Given the description of an element on the screen output the (x, y) to click on. 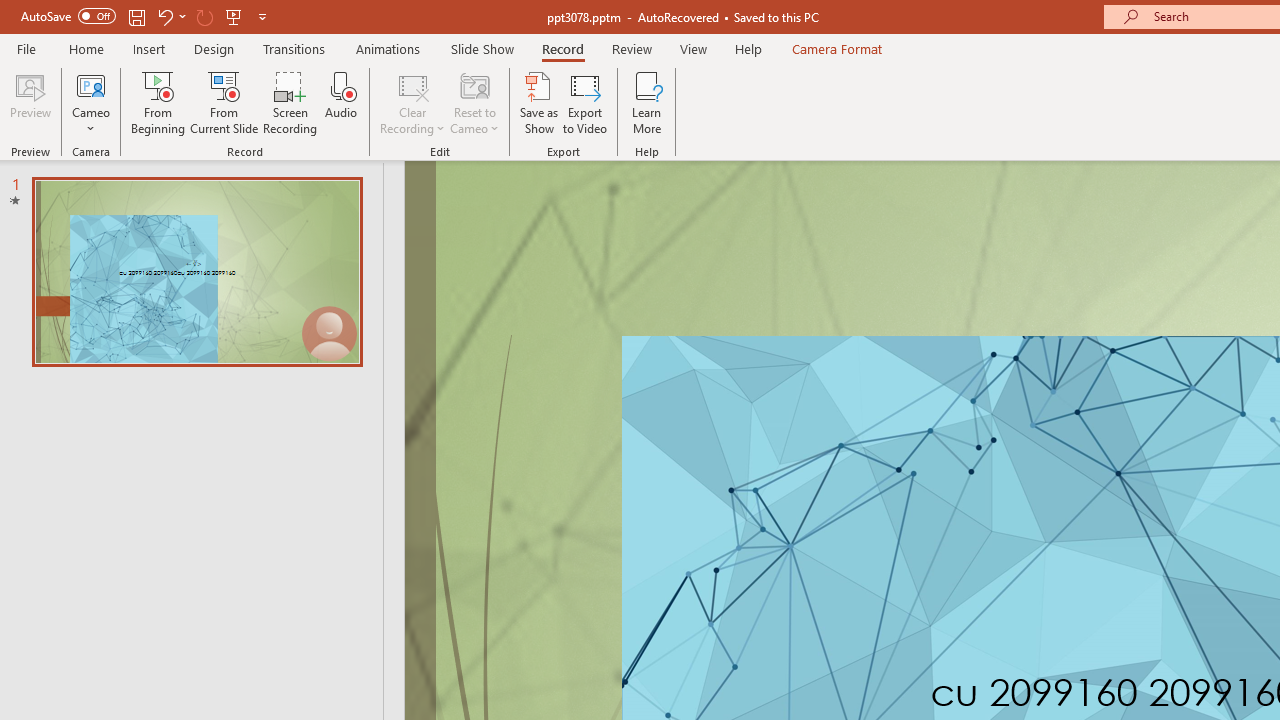
Camera Format (836, 48)
